Given the description of an element on the screen output the (x, y) to click on. 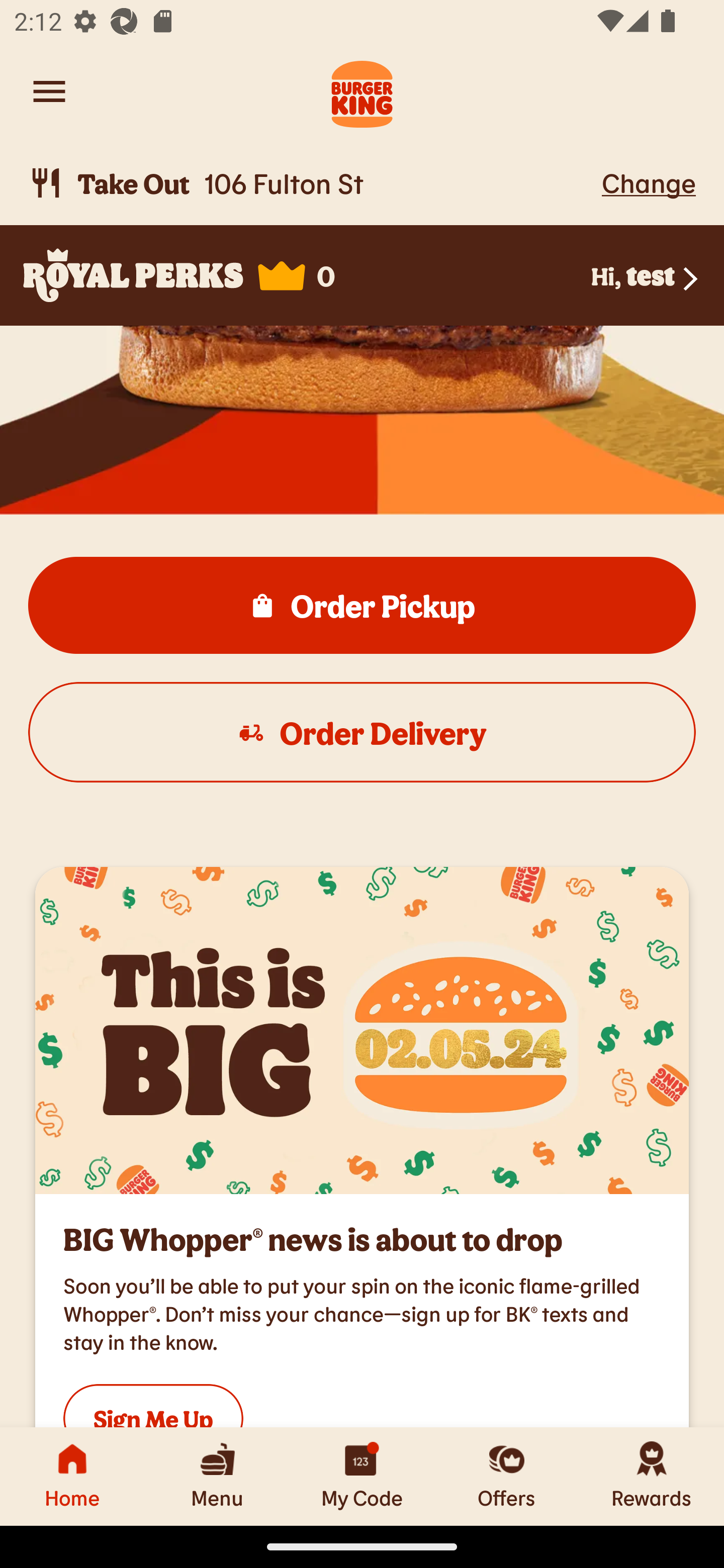
Burger King Logo. Navigate to Home (362, 91)
Navigate to account menu  (49, 91)
Take Out, 106 Fulton St  Take Out 106 Fulton St (311, 183)
Change (648, 182)
, Order Pickup  Order Pickup (361, 604)
, Order Delivery  Order Delivery (361, 732)
MDW Teaser Auth App (361, 1030)
Home (72, 1475)
Menu (216, 1475)
My Code (361, 1475)
Offers (506, 1475)
Rewards (651, 1475)
